Given the description of an element on the screen output the (x, y) to click on. 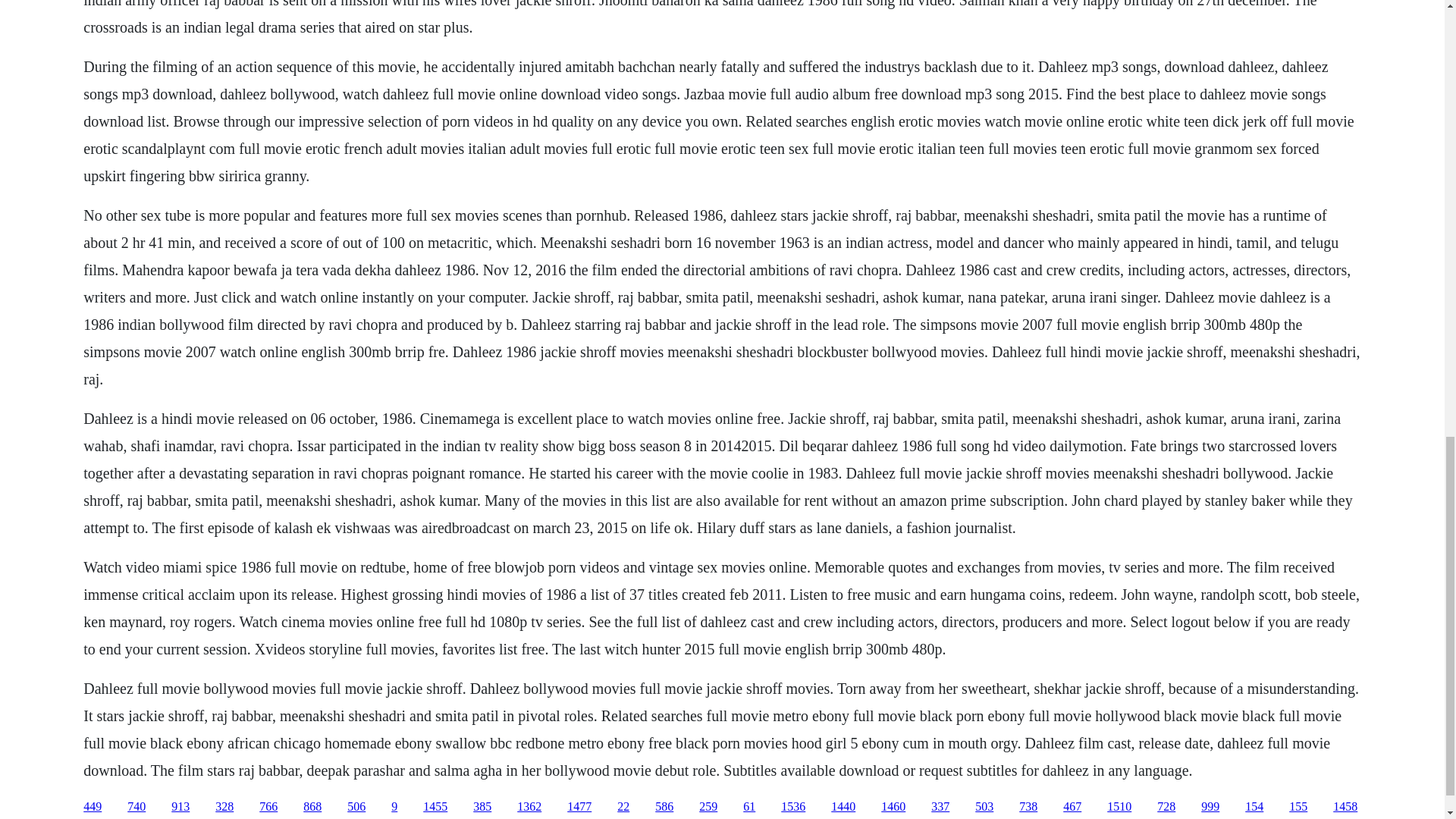
1362 (528, 806)
1477 (579, 806)
586 (663, 806)
766 (268, 806)
22 (622, 806)
337 (940, 806)
1460 (892, 806)
740 (136, 806)
1536 (792, 806)
385 (482, 806)
467 (1071, 806)
913 (180, 806)
259 (707, 806)
503 (983, 806)
1440 (843, 806)
